Given the description of an element on the screen output the (x, y) to click on. 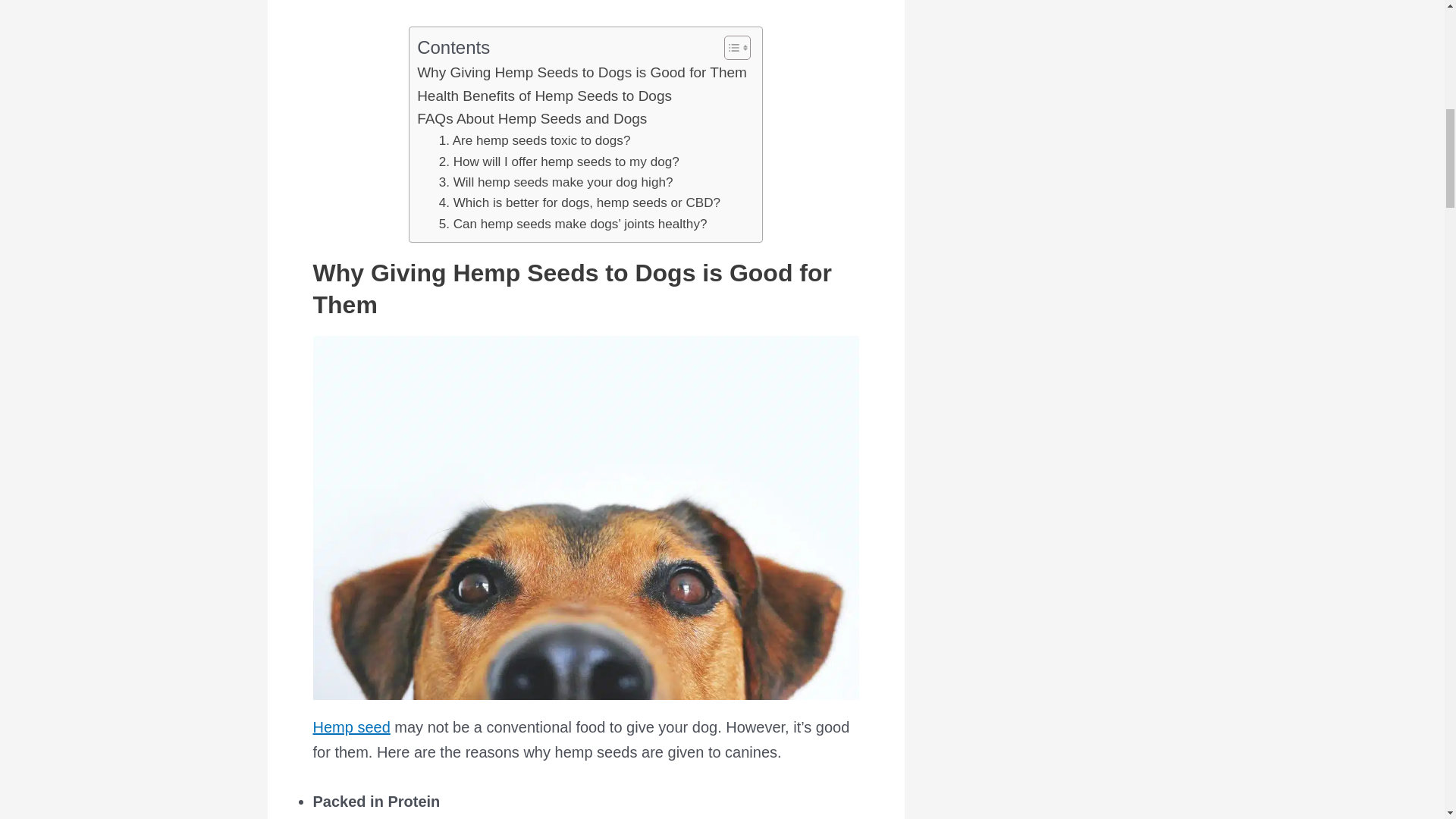
3. Will hemp seeds make your dog high? (555, 181)
FAQs About Hemp Seeds and Dogs (531, 118)
2. How will I offer hemp seeds to my dog? (559, 161)
1. Are hemp seeds toxic to dogs? (534, 140)
Hemp seed (351, 727)
Why Giving Hemp Seeds to Dogs is Good for Them (581, 72)
Why Giving Hemp Seeds to Dogs is Good for Them (581, 72)
FAQs About Hemp Seeds and Dogs (531, 118)
4. Which is better for dogs, hemp seeds or CBD? (579, 202)
1. Are hemp seeds toxic to dogs? (534, 140)
Health Benefits of Hemp Seeds to Dogs (543, 96)
4. Which is better for dogs, hemp seeds or CBD? (579, 202)
3. Will hemp seeds make your dog high? (555, 181)
Health Benefits of Hemp Seeds to Dogs (543, 96)
2. How will I offer hemp seeds to my dog? (559, 161)
